Given the description of an element on the screen output the (x, y) to click on. 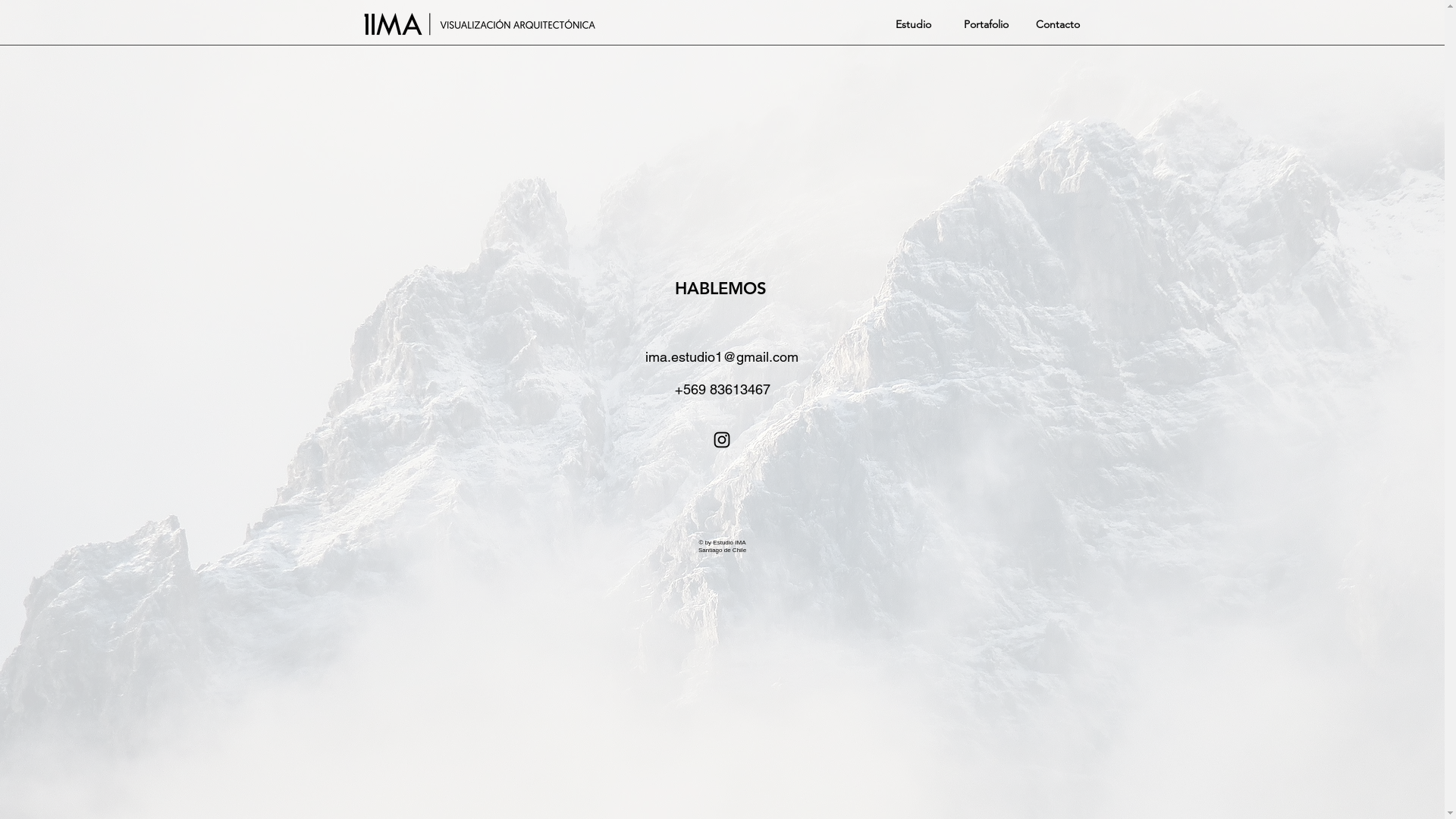
Portafolio Element type: text (982, 24)
+569 83613467 Element type: text (721, 389)
ima.estudio1@gmail.com Element type: text (722, 356)
Estudio Element type: text (910, 24)
HABLEMOS Element type: text (720, 288)
Contacto Element type: text (1057, 24)
